Given the description of an element on the screen output the (x, y) to click on. 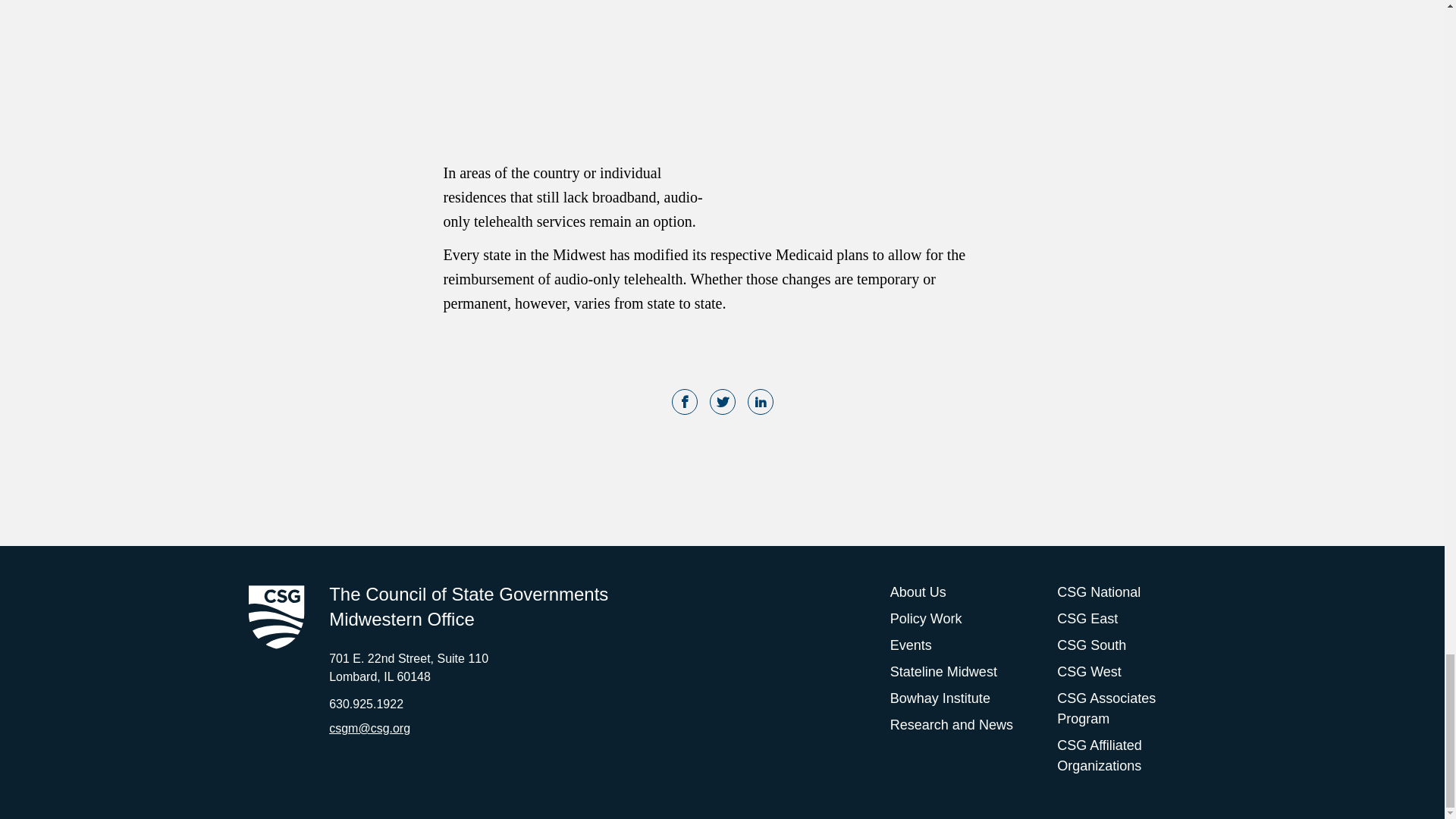
Linkedin (760, 402)
Tweet this (722, 402)
Share on Facebook (684, 402)
